Given the description of an element on the screen output the (x, y) to click on. 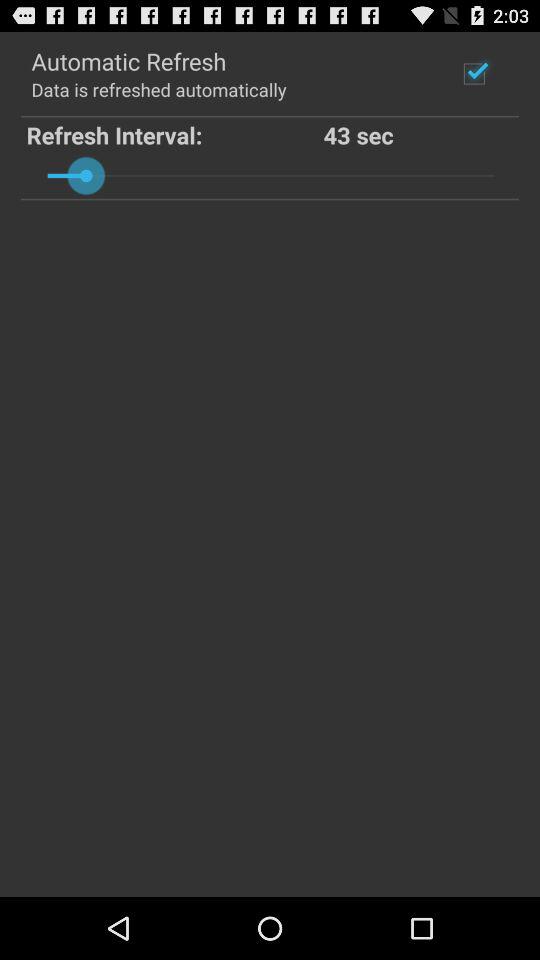
flip to refresh interval: item (174, 134)
